Given the description of an element on the screen output the (x, y) to click on. 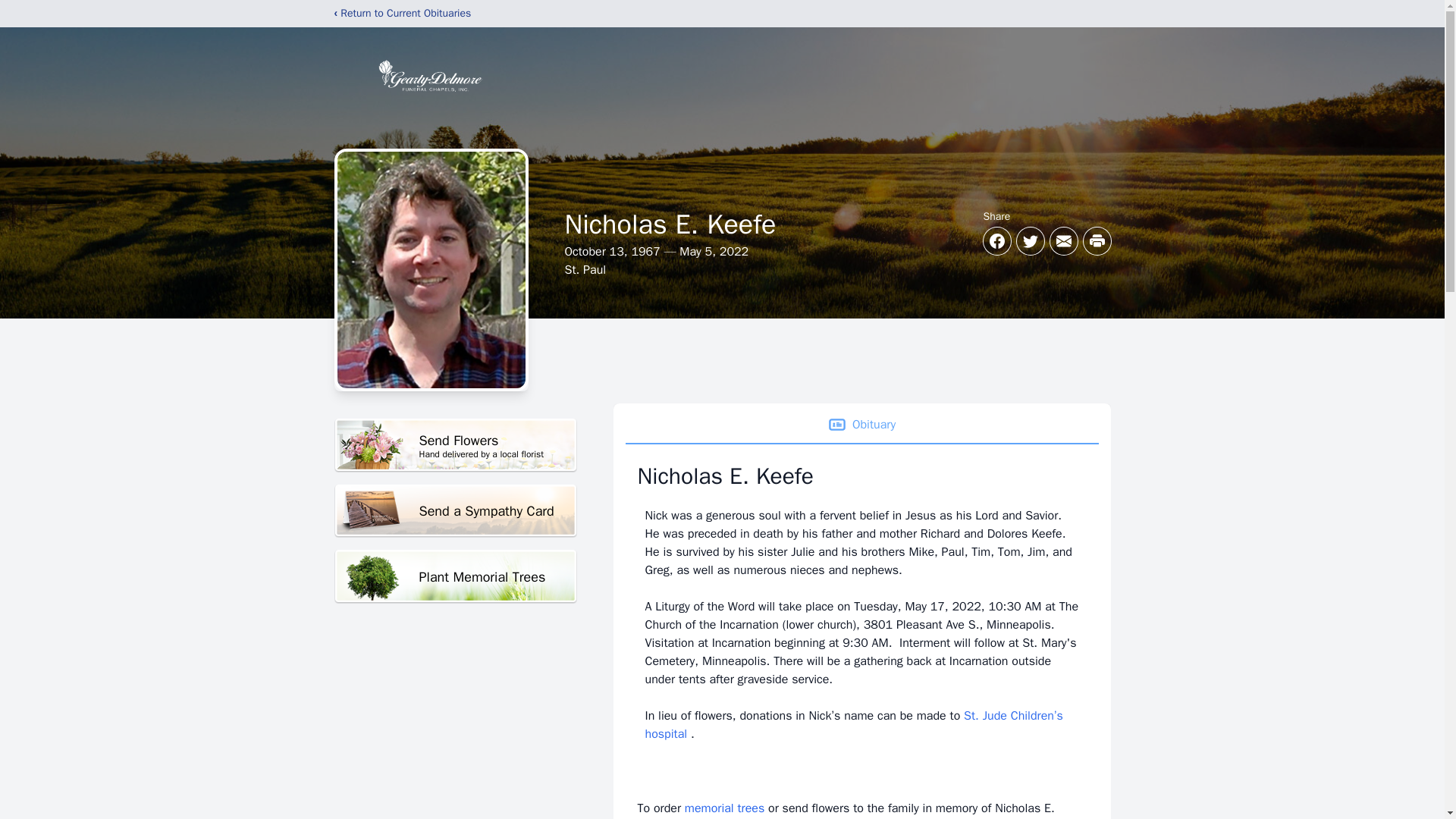
memorial trees (724, 807)
Obituary (860, 425)
Send a Sympathy Card (454, 445)
Plant Memorial Trees (454, 511)
